Given the description of an element on the screen output the (x, y) to click on. 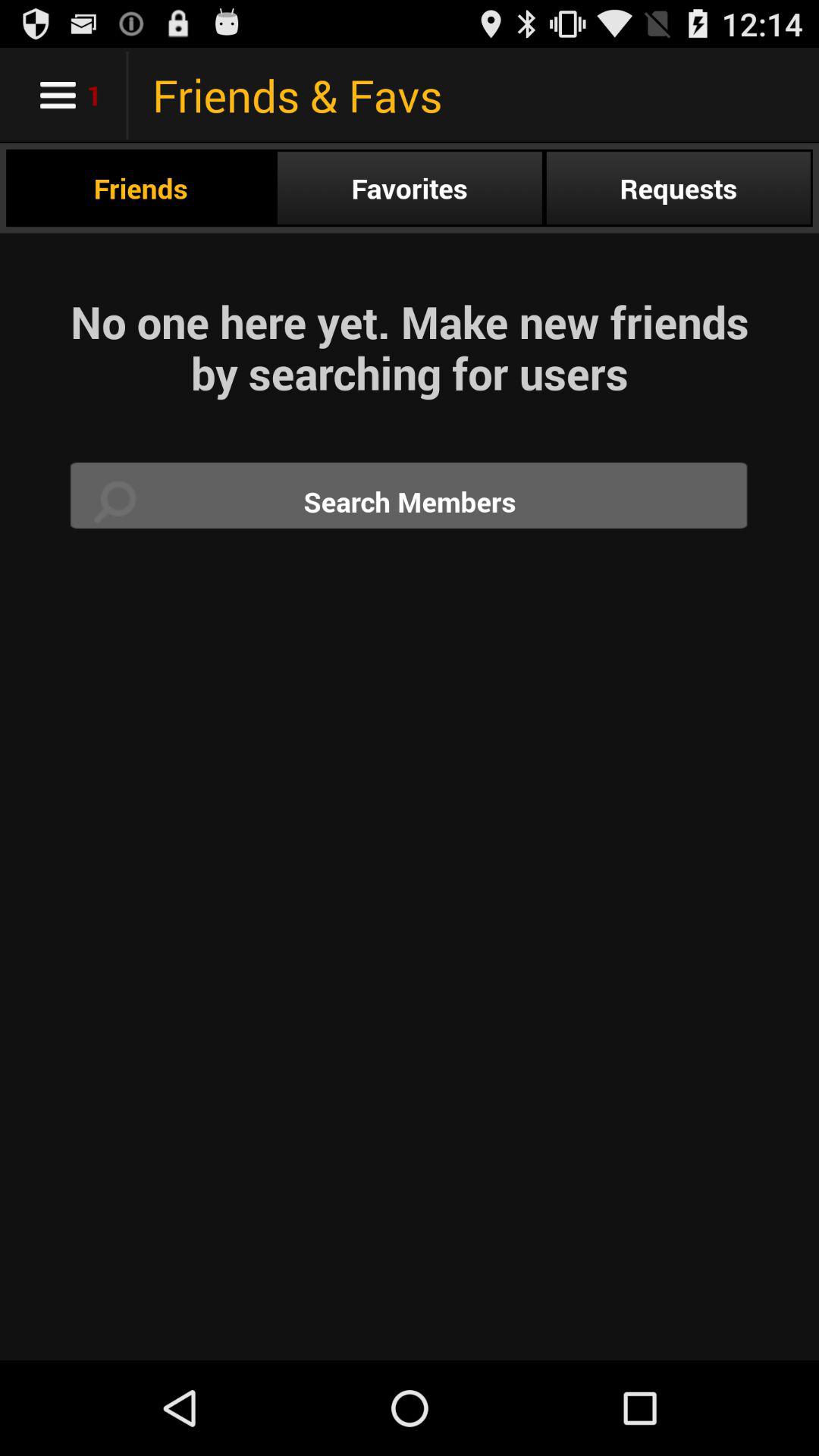
turn off the favorites (409, 187)
